Given the description of an element on the screen output the (x, y) to click on. 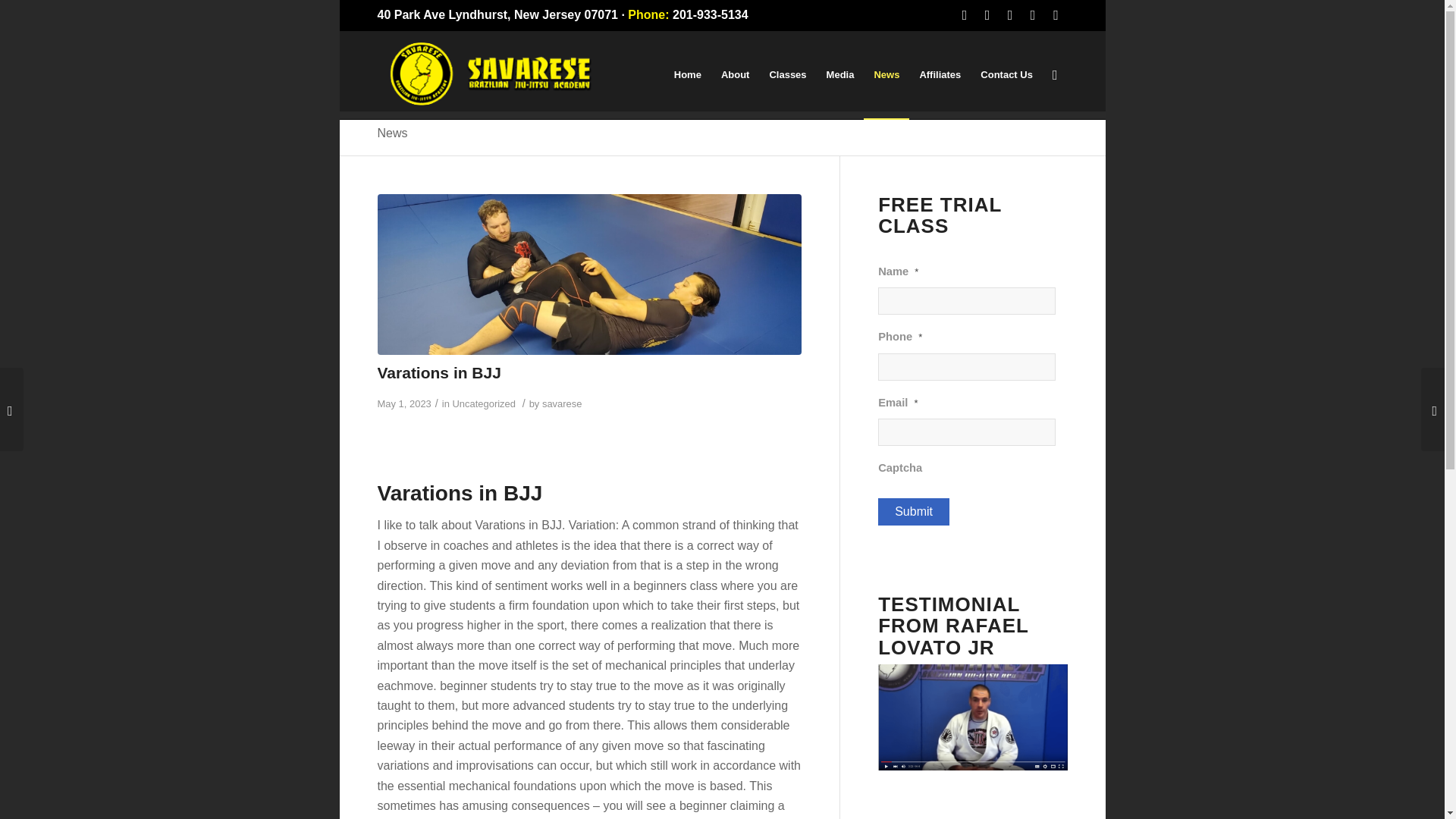
201-933-5134 (710, 14)
savarese (561, 403)
News (392, 132)
Permanent Link: Varations in BJJ (438, 372)
Uncategorized (483, 403)
Permanent Link: News (392, 132)
Varations in BJJ (438, 372)
Posts by savarese (561, 403)
